Given the description of an element on the screen output the (x, y) to click on. 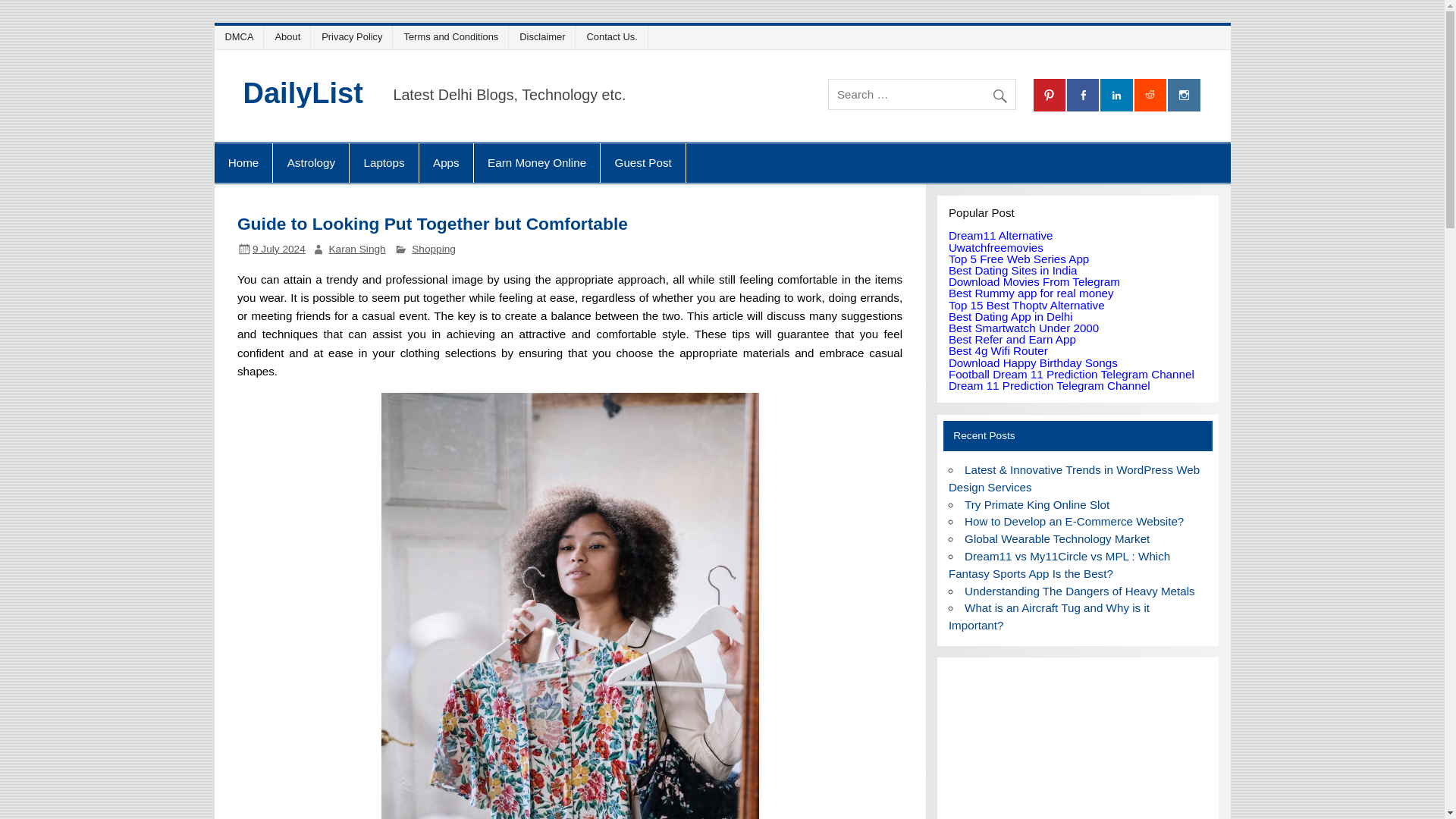
Apps (446, 162)
9:29 am (278, 248)
Disclaimer (545, 37)
Terms and Conditions (453, 37)
DailyList (302, 92)
About (289, 37)
Laptops (384, 162)
Privacy Policy (355, 37)
Advertisement (1078, 744)
Home (243, 162)
Astrology (311, 162)
View all posts by Karan Singh (357, 248)
Contact Us. (613, 37)
DMCA (241, 37)
